Given the description of an element on the screen output the (x, y) to click on. 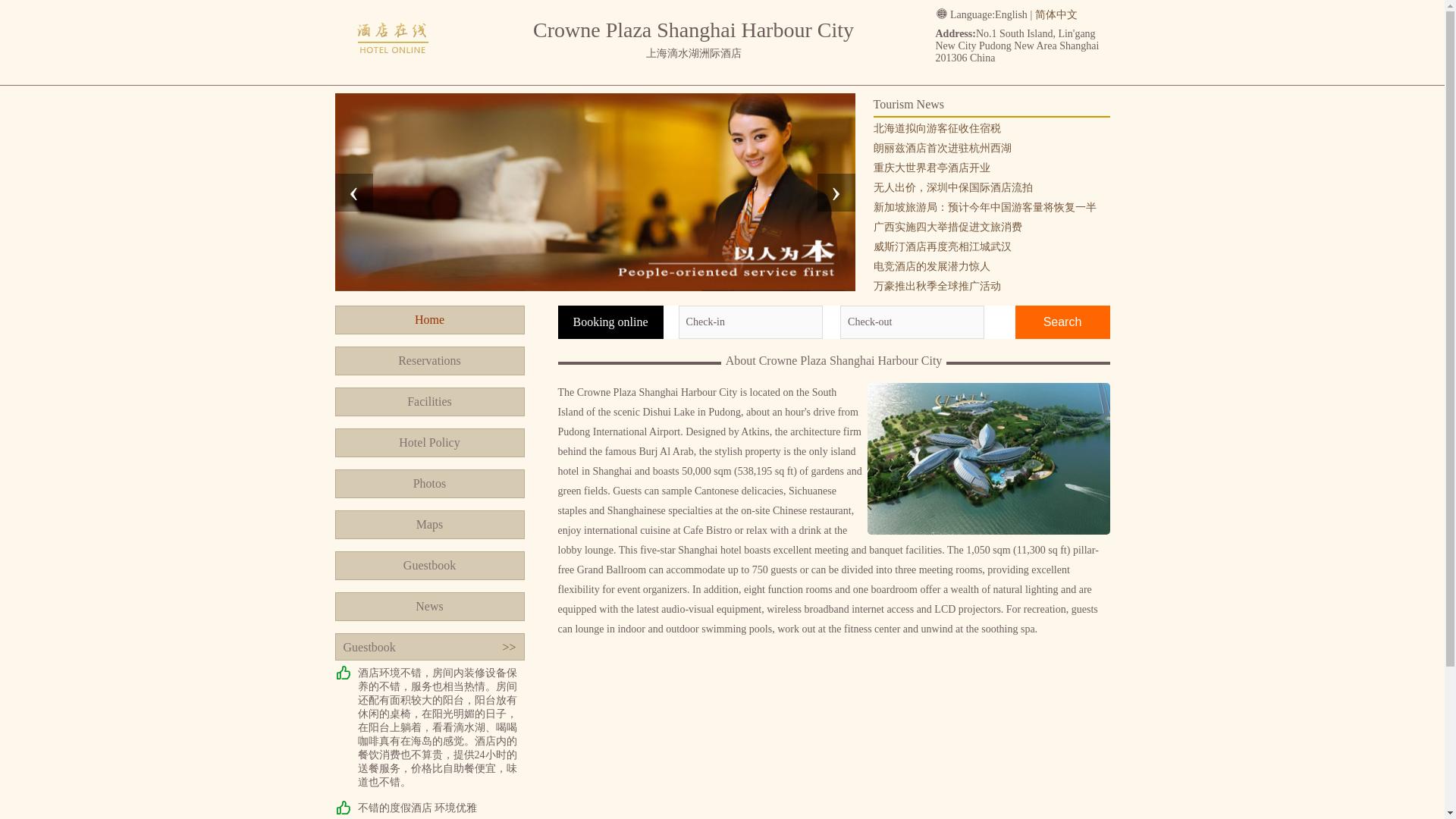
Crowne Plaza Shanghai Harbour City (392, 70)
Crowne Plaza Shanghai Harbour City (392, 70)
Guestbook (429, 565)
Search (1061, 322)
News (429, 606)
Maps (429, 524)
Facilities (429, 401)
Crowne Plaza Shanghai Harbour City (392, 40)
Hotel Policy (429, 442)
Photos (429, 483)
Reservations (429, 360)
Home (429, 319)
